Given the description of an element on the screen output the (x, y) to click on. 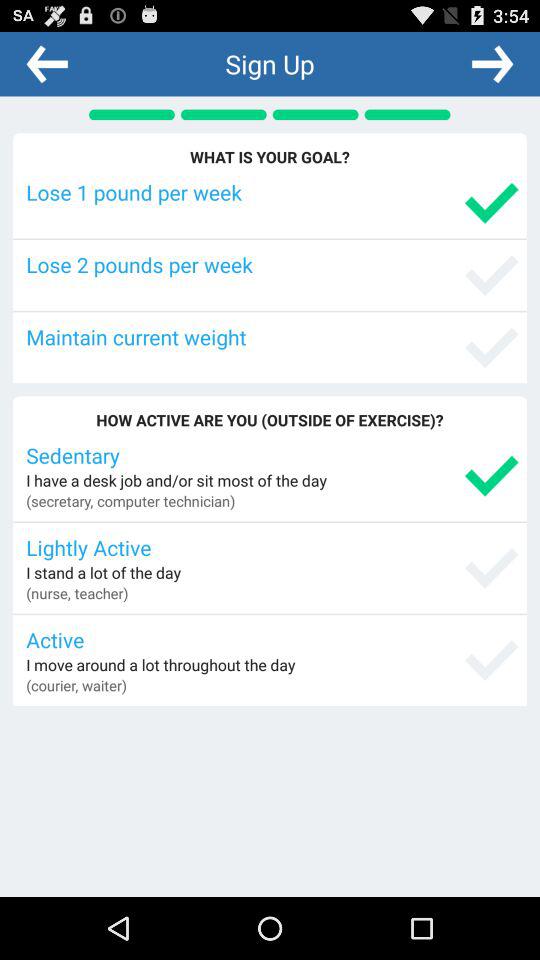
go back (47, 63)
